Given the description of an element on the screen output the (x, y) to click on. 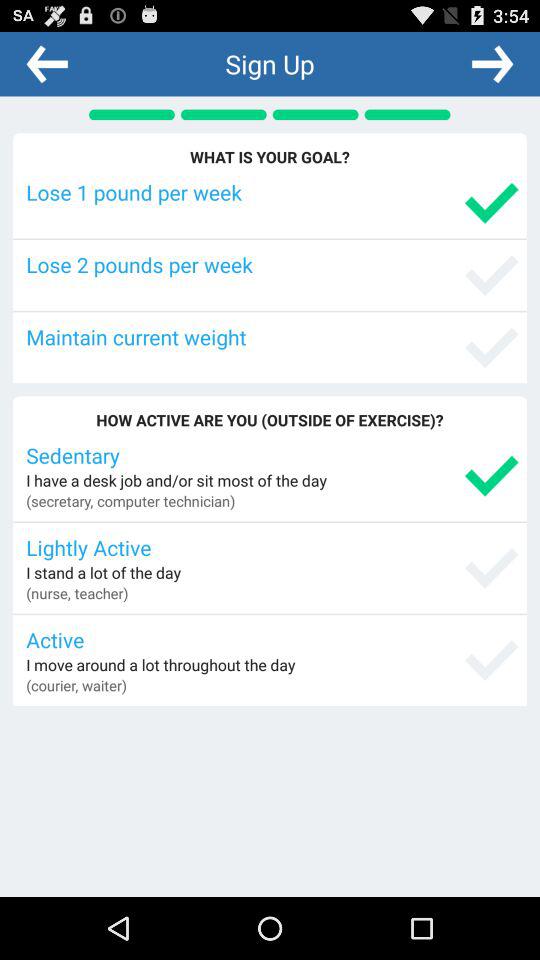
go back (47, 63)
